Given the description of an element on the screen output the (x, y) to click on. 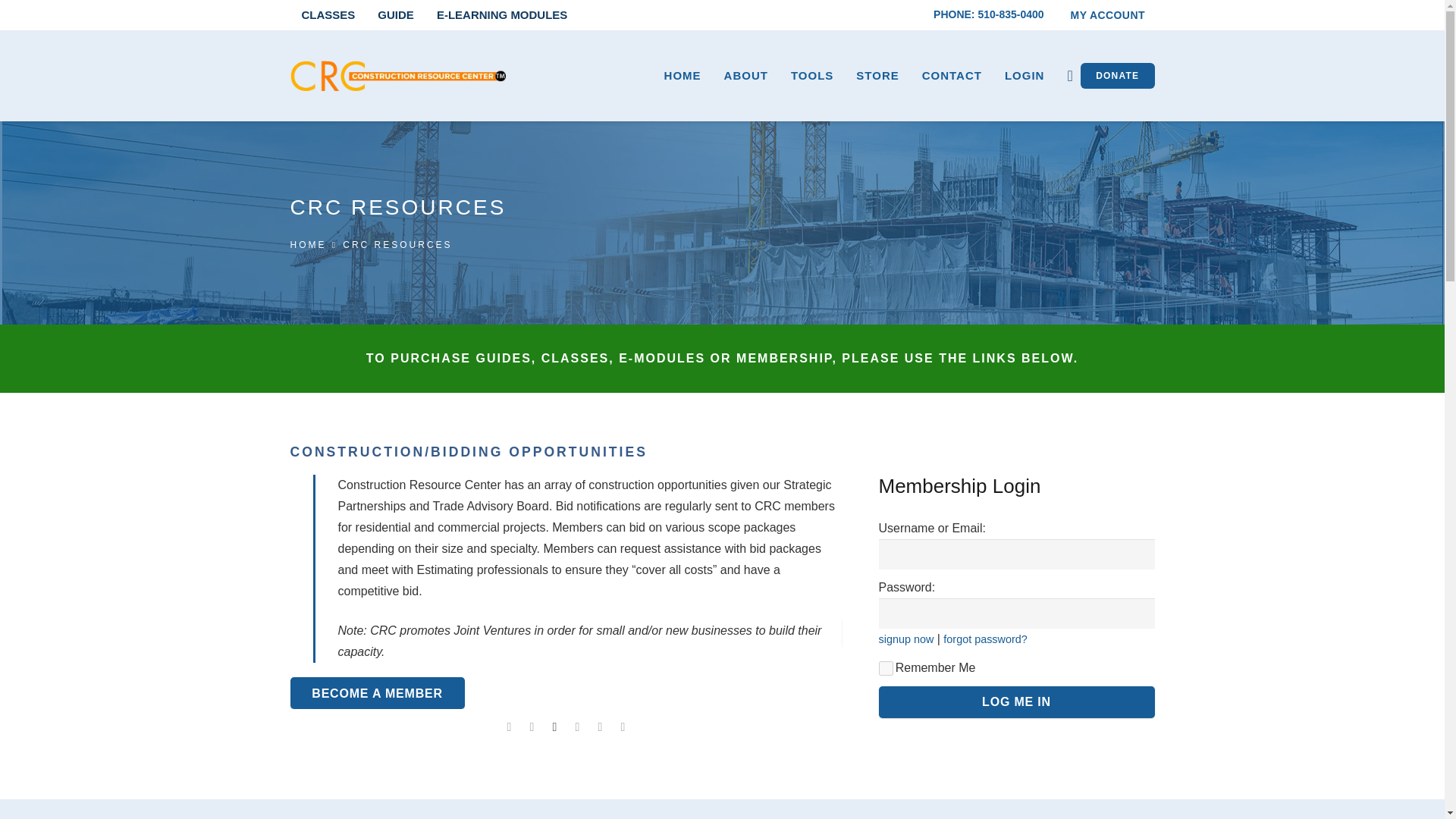
Password (1015, 613)
CRC RESOURCES (396, 244)
ABOUT (745, 75)
STORE (877, 75)
forever (884, 667)
CONTACT (951, 75)
BECOME A MEMBER (376, 693)
HOME (307, 244)
LOGIN (1024, 75)
GUIDE (395, 15)
MEMBERSHIP (376, 693)
Log Me In (1015, 702)
TOOLS (811, 75)
MY ACCOUNT (1107, 15)
PHONE: 510-835-0400 (988, 14)
